Given the description of an element on the screen output the (x, y) to click on. 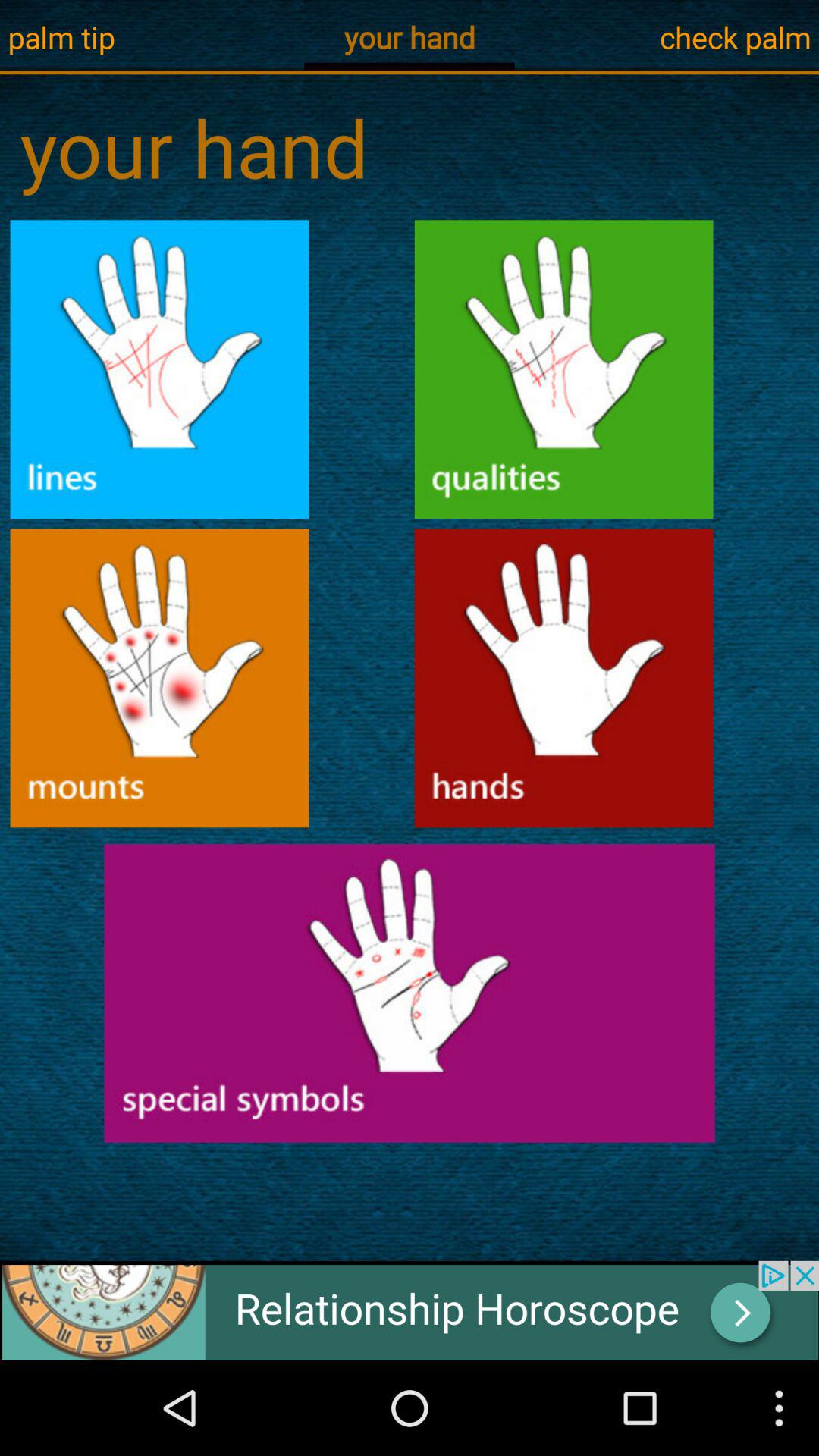
go to qualities selections (563, 369)
